Given the description of an element on the screen output the (x, y) to click on. 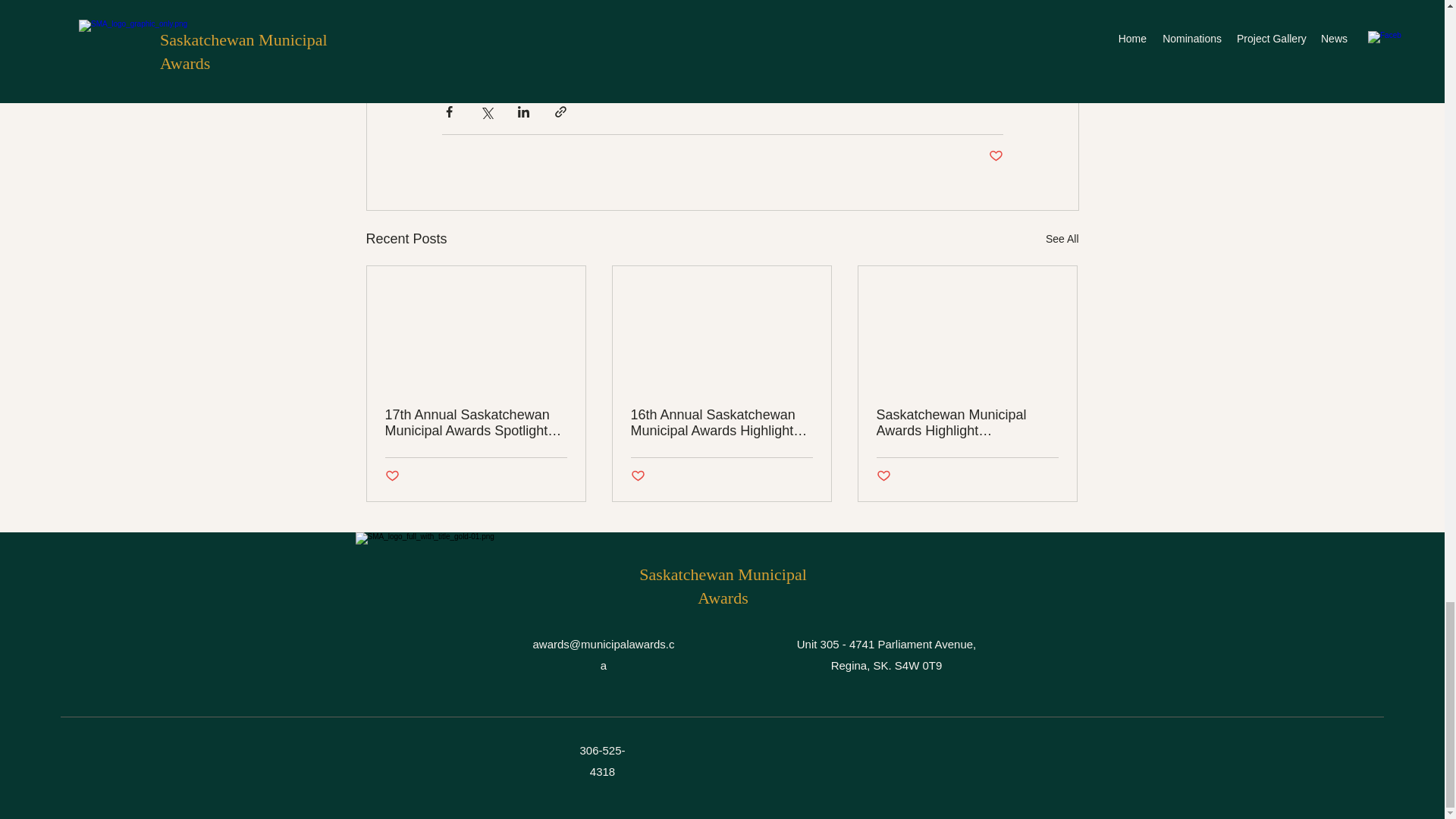
Saskatchewan Municipal Awards (722, 586)
Post not marked as liked (391, 476)
Post not marked as liked (883, 476)
See All (1061, 239)
Post not marked as liked (637, 476)
Post not marked as liked (995, 156)
